Given the description of an element on the screen output the (x, y) to click on. 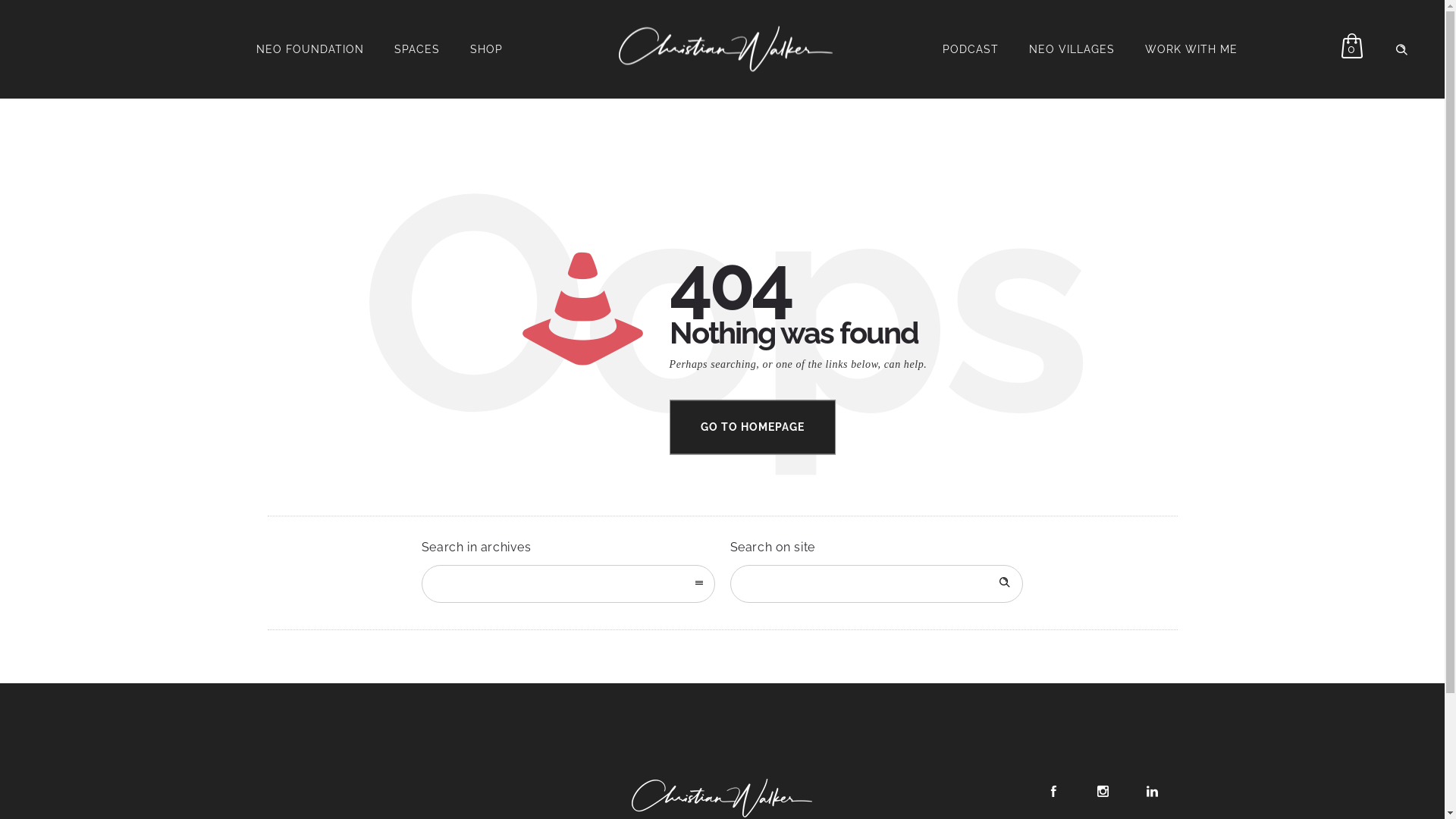
WORK WITH ME Element type: text (1190, 49)
Search Element type: text (1003, 583)
GO TO HOMEPAGE Element type: text (752, 426)
SHOP Element type: text (486, 49)
PODCAST Element type: text (969, 49)
SPACES Element type: text (417, 49)
NEO VILLAGES Element type: text (1071, 49)
NEO FOUNDATION Element type: text (310, 49)
0 Element type: text (1351, 49)
